Given the description of an element on the screen output the (x, y) to click on. 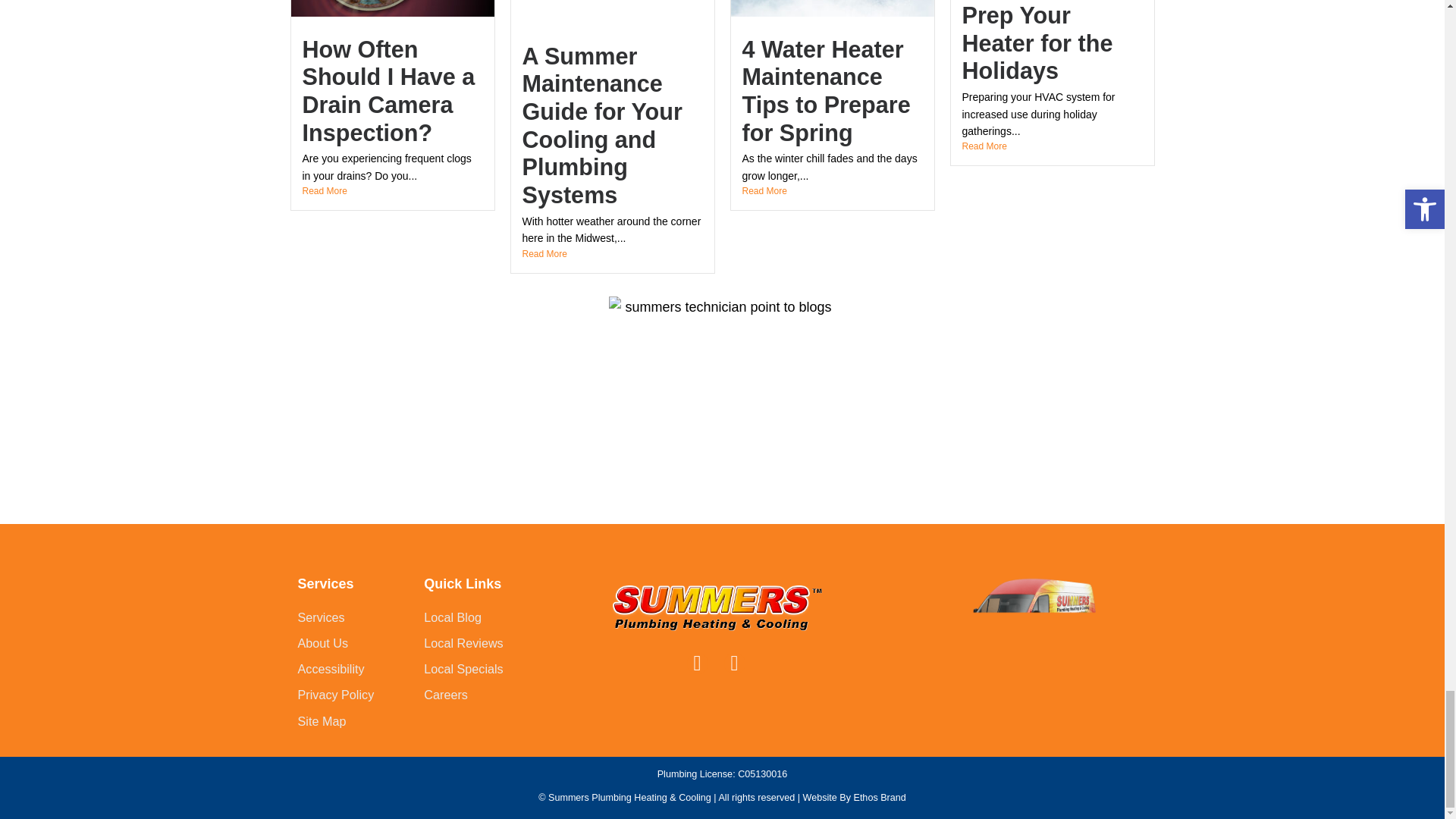
4 Water Heater Maintenance Tips to Prepare for Spring (825, 90)
Prep Your Heater for the Holidays (1036, 42)
How Often Should I Have a Drain Camera Inspection? (387, 90)
